Given the description of an element on the screen output the (x, y) to click on. 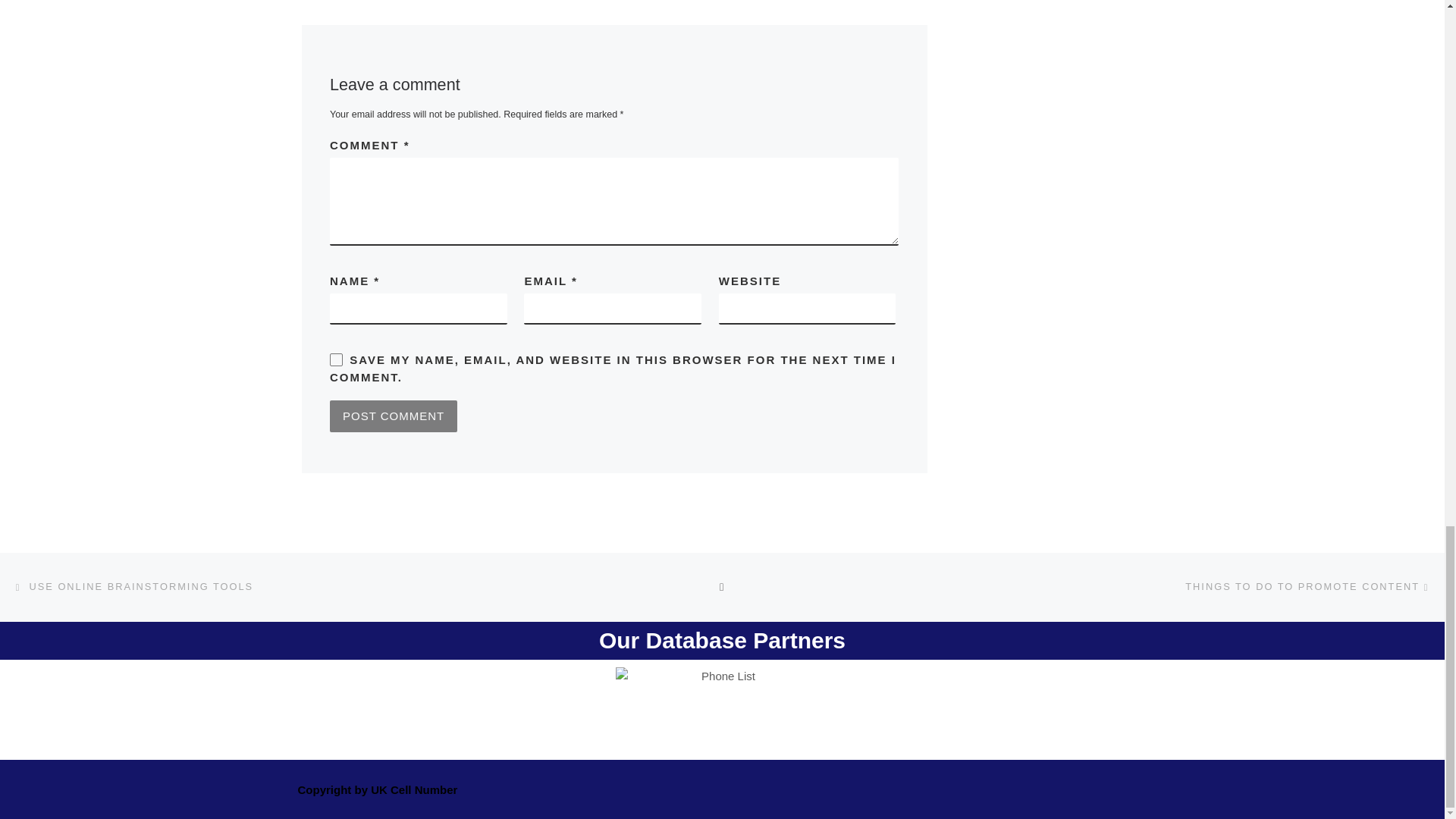
yes (336, 359)
Post Comment (393, 416)
